Given the description of an element on the screen output the (x, y) to click on. 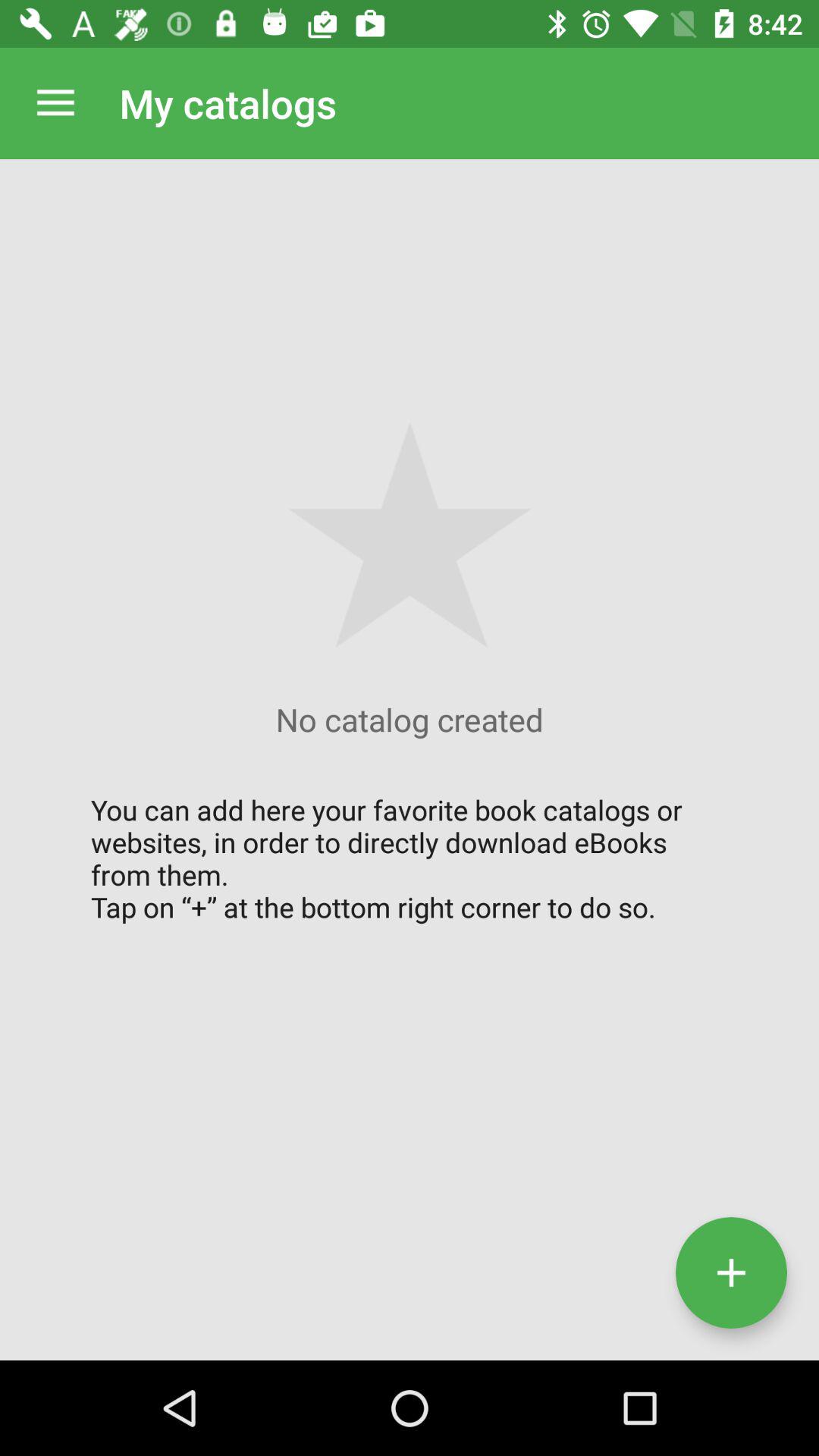
press item below the you can add (731, 1272)
